Given the description of an element on the screen output the (x, y) to click on. 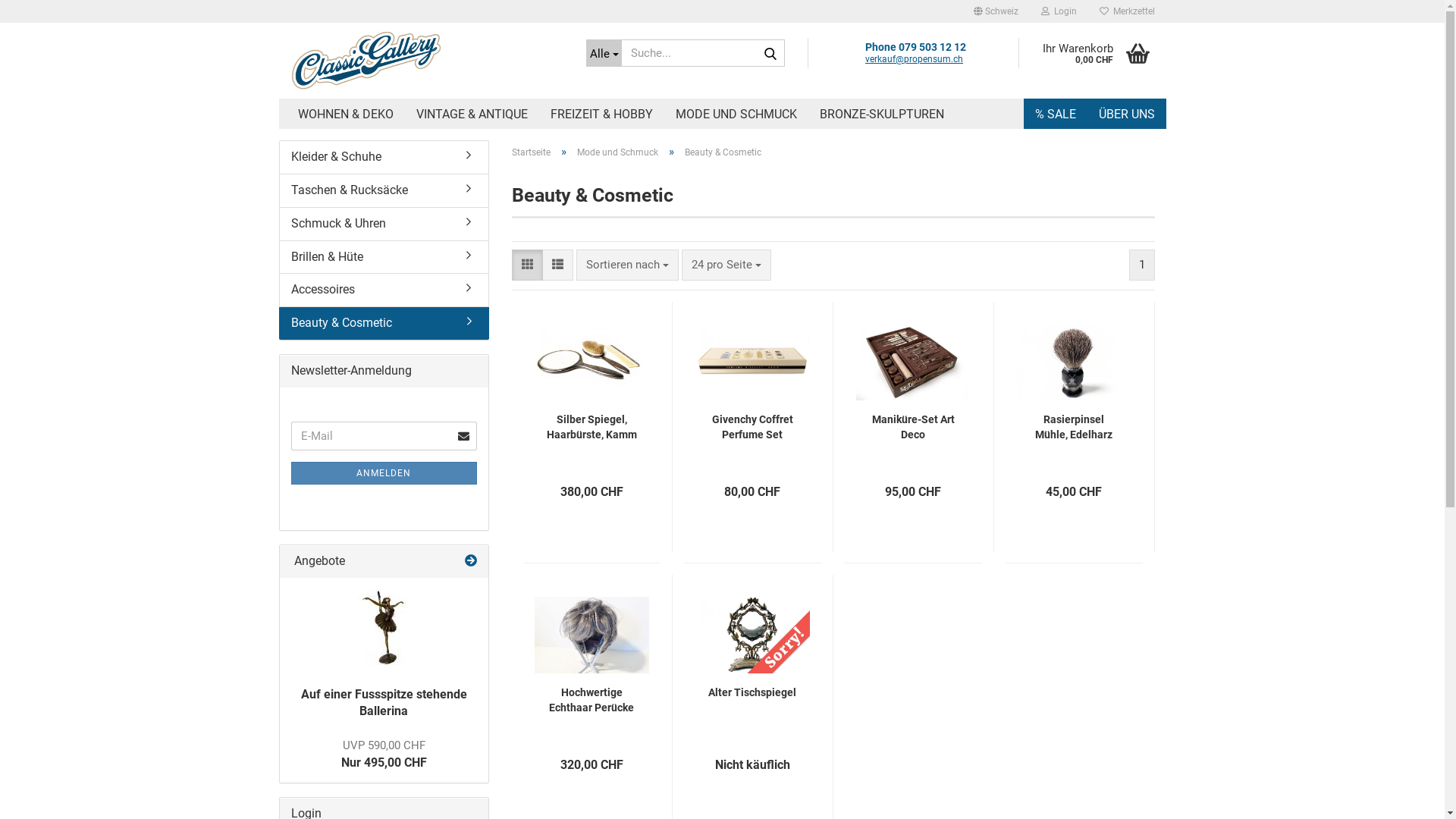
Auf einer Fussspitze stehende Ballerina Element type: text (384, 702)
Sortieren nach Element type: text (627, 264)
UVP 590,00 CHF
Nur 495,00 CHF Element type: text (383, 753)
 Login Element type: text (1058, 11)
Beauty & Cosmetic Element type: text (384, 323)
BRONZE-SKULPTUREN Element type: text (881, 113)
Ihr Warenkorb
0,00 CHF Element type: text (1091, 52)
Angebote Element type: hover (470, 561)
Auf einer Fussspitze stehende Ballerina Element type: hover (383, 627)
Anmelden Element type: text (975, 185)
verkauf@propensum.ch Element type: text (914, 58)
24 pro Seite Element type: text (726, 264)
Classic Gallery Element type: hover (425, 60)
VINTAGE & ANTIQUE Element type: text (471, 113)
 Merkzettel Element type: text (1126, 11)
Alter Tischspiegel Element type: hover (752, 623)
ANMELDEN Element type: text (384, 472)
Speichern Element type: text (912, 125)
FREIZEIT & HOBBY Element type: text (600, 113)
Givenchy Coffret Perfume Set Element type: hover (752, 350)
Accessoires Element type: text (383, 289)
Givenchy Coffret Perfume Set Element type: text (752, 426)
Schmuck & Uhren Element type: text (383, 223)
Kleider & Schuhe Element type: text (383, 157)
WOHNEN & DEKO Element type: text (345, 113)
MODE UND SCHMUCK Element type: text (736, 113)
Alle Element type: text (603, 52)
Startseite Element type: text (530, 152)
Schweiz Element type: text (995, 11)
Alter Tischspiegel Element type: text (752, 691)
Mode und Schmuck Element type: text (617, 152)
% SALE Element type: text (1055, 113)
